Given the description of an element on the screen output the (x, y) to click on. 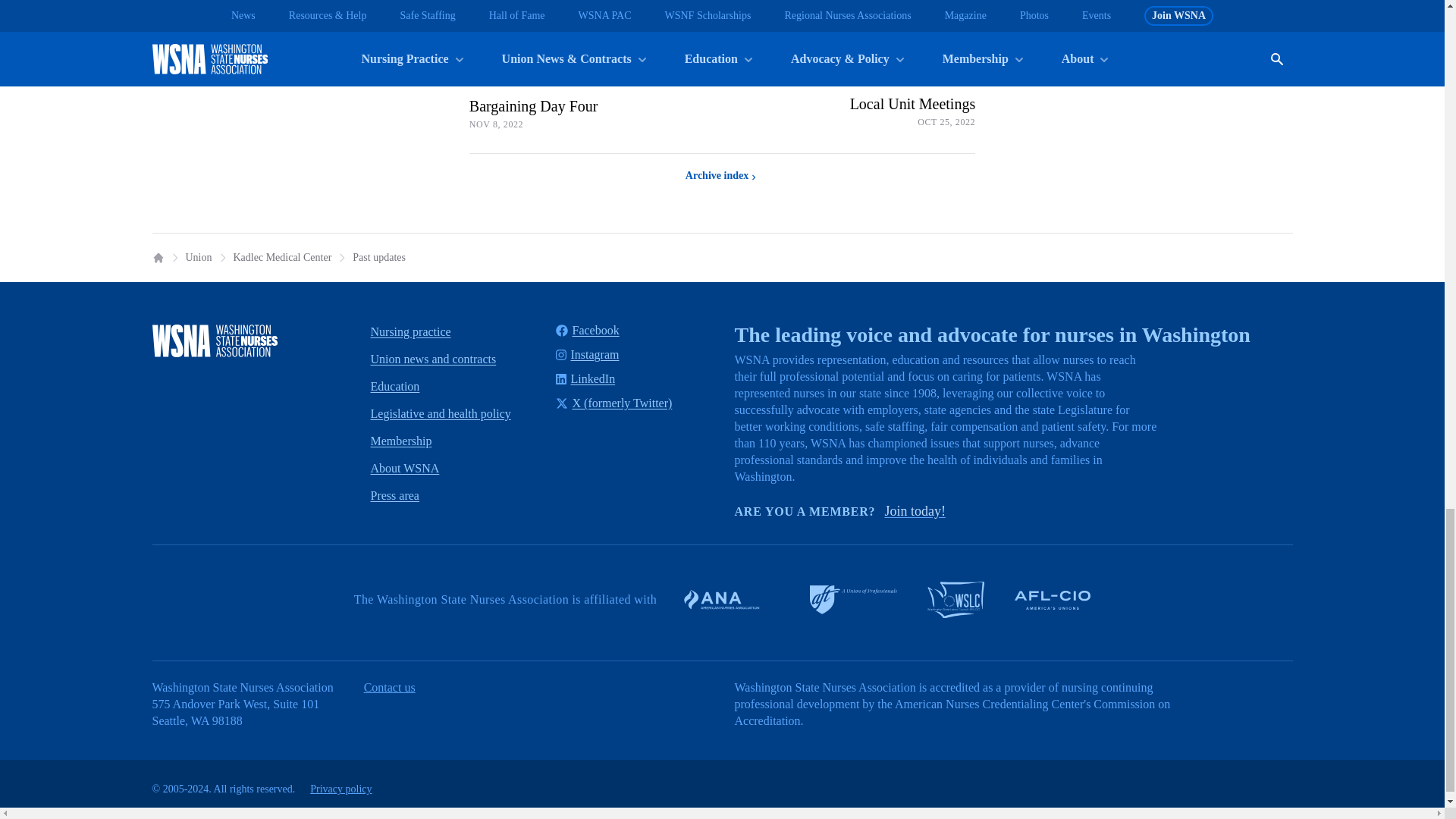
Washington State Labor Council (955, 599)
AFT - A Union of Professionals (852, 599)
Washington State Nurses Association (213, 340)
American Nurses Association (729, 599)
AFL-CIO (1052, 599)
